Given the description of an element on the screen output the (x, y) to click on. 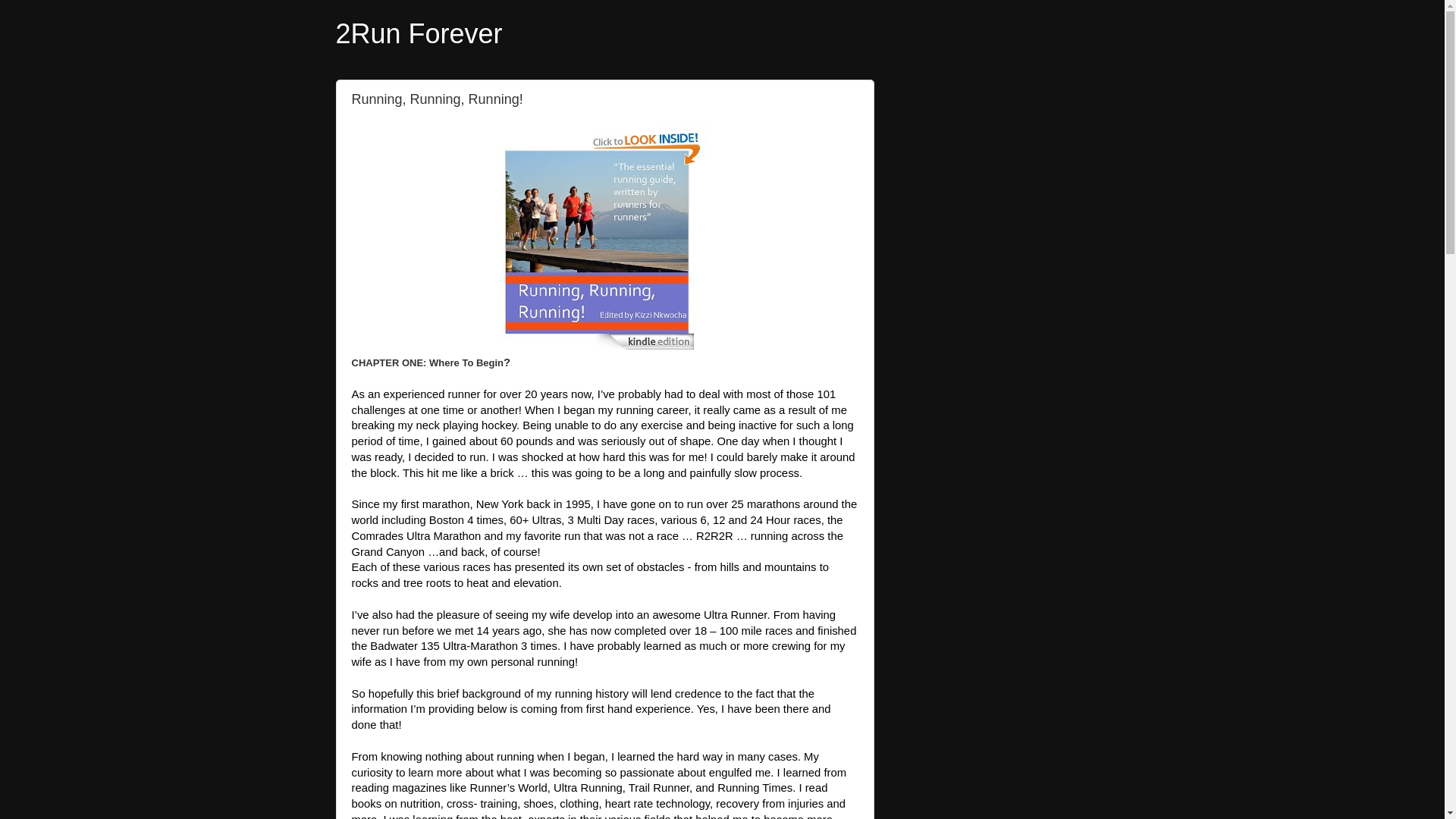
2Run Forever Element type: text (418, 33)
